Given the description of an element on the screen output the (x, y) to click on. 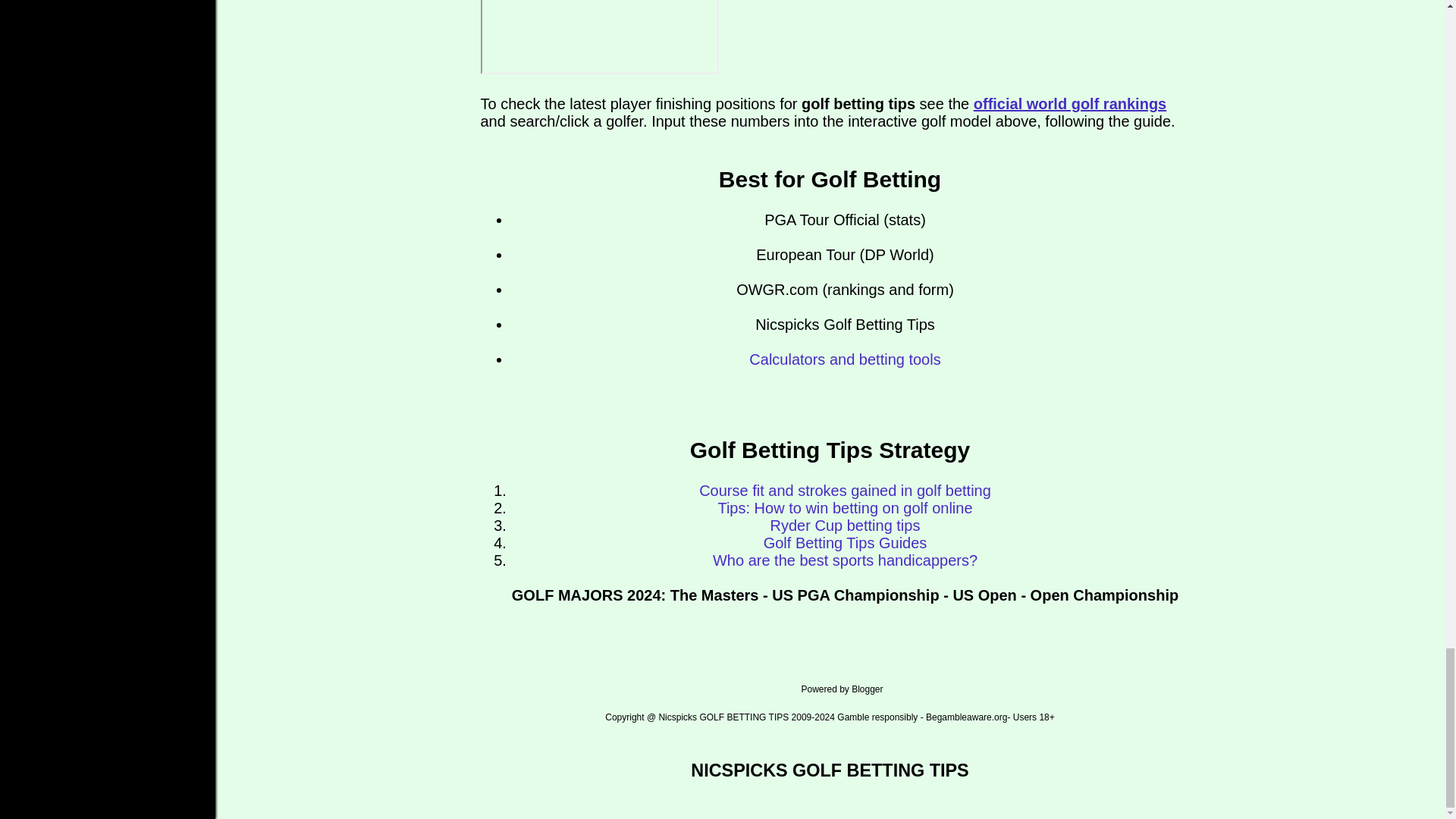
Calculators and betting tools (844, 359)
Course fit and strokes gained in golf betting (844, 490)
Golf Betting Tips Guides (844, 542)
Tips: How to win betting on golf online (844, 507)
official world golf rankings (1070, 103)
Ryder Cup betting tips (845, 524)
Who are the best sports handicappers? (844, 560)
